Given the description of an element on the screen output the (x, y) to click on. 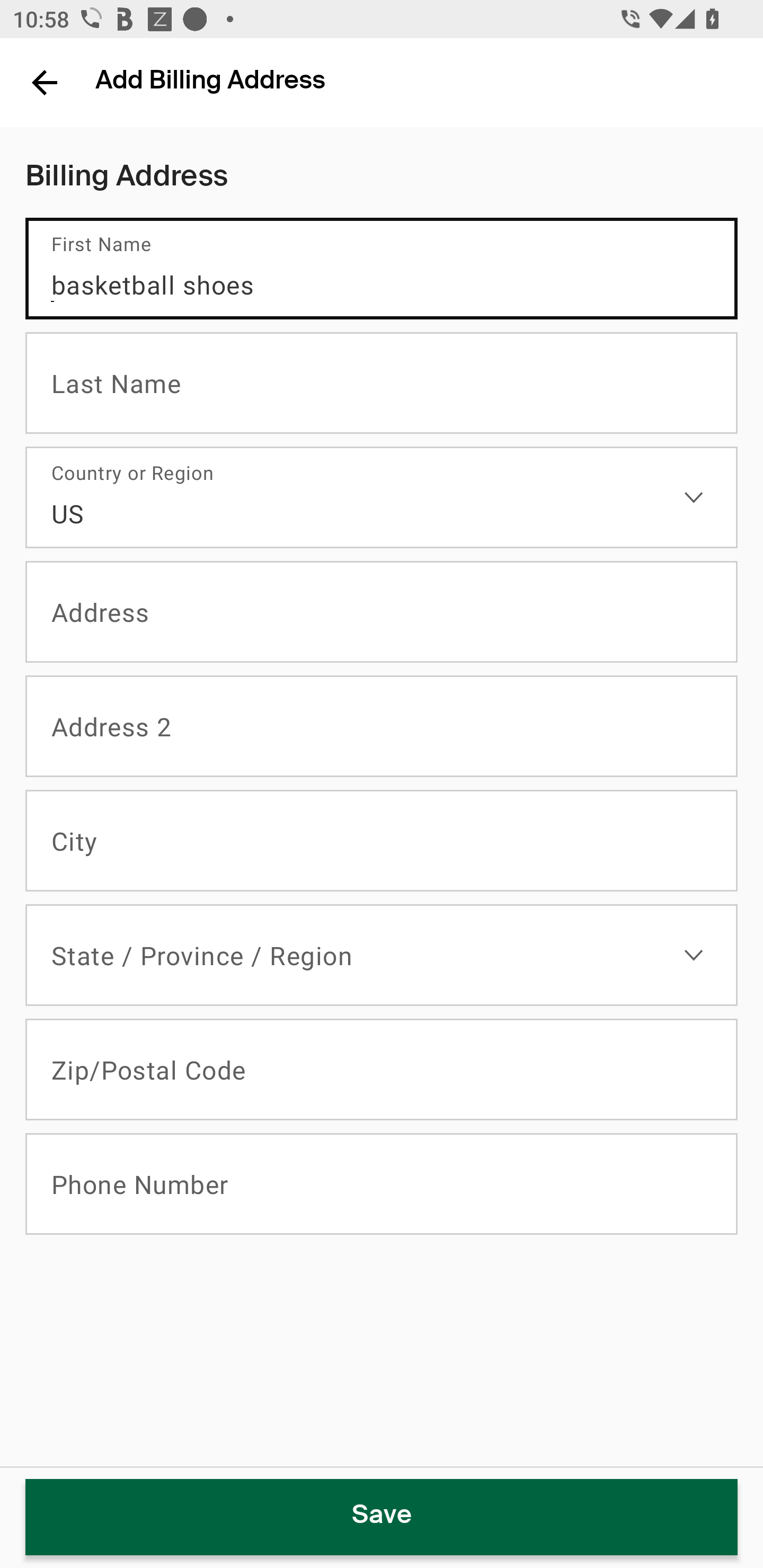
Navigate up (44, 82)
basketball shoes
 First Name (381, 268)
Last Name (381, 383)
Address (381, 612)
Address 2 (381, 726)
City (381, 841)
Zip/Postal Code (381, 1070)
Phone Number (381, 1184)
Save (381, 1516)
